Given the description of an element on the screen output the (x, y) to click on. 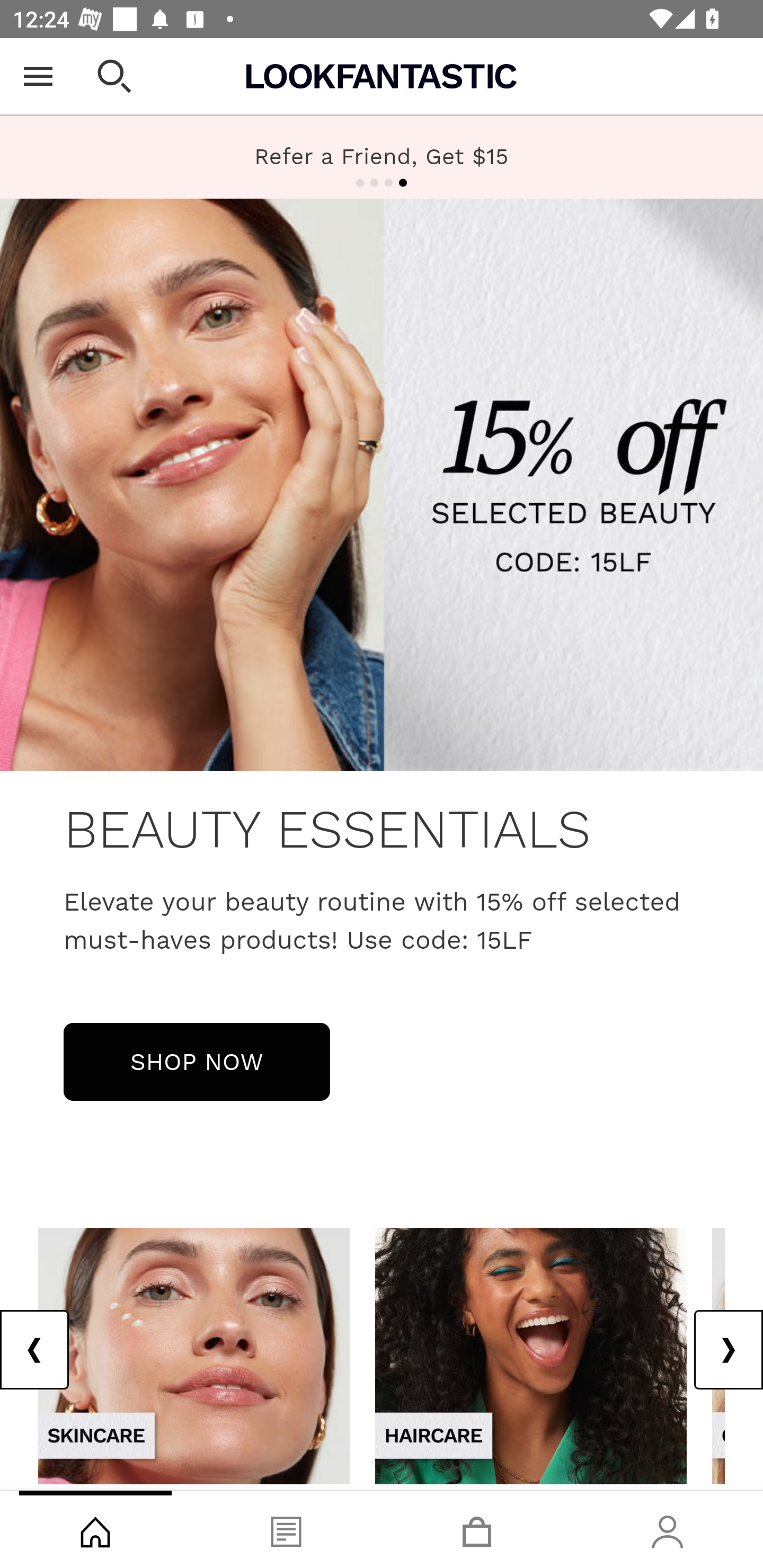
Open Menu (38, 75)
Open search (114, 75)
Lookfantastic USA (381, 75)
SHOP NOW (196, 1061)
view-all (193, 1355)
view-all (530, 1355)
Previous (35, 1349)
Next (727, 1349)
Shop, tab, 1 of 4 (95, 1529)
Blog, tab, 2 of 4 (285, 1529)
Basket, tab, 3 of 4 (476, 1529)
Account, tab, 4 of 4 (667, 1529)
